Given the description of an element on the screen output the (x, y) to click on. 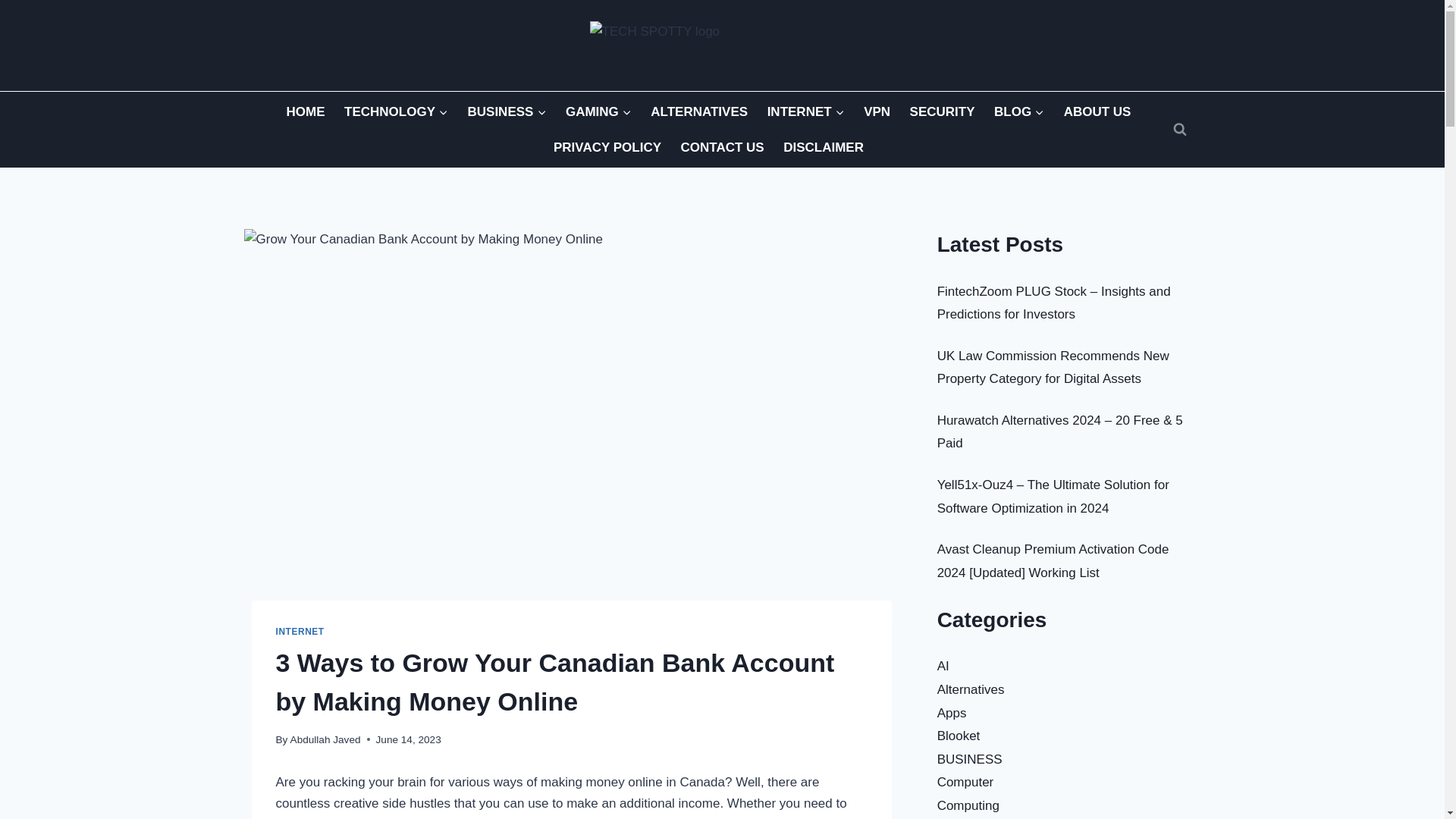
INTERNET (805, 111)
SECURITY (941, 111)
BLOG (1019, 111)
VPN (876, 111)
INTERNET (300, 631)
TECHNOLOGY (395, 111)
DISCLAIMER (822, 147)
BUSINESS (507, 111)
ABOUT US (1097, 111)
